Given the description of an element on the screen output the (x, y) to click on. 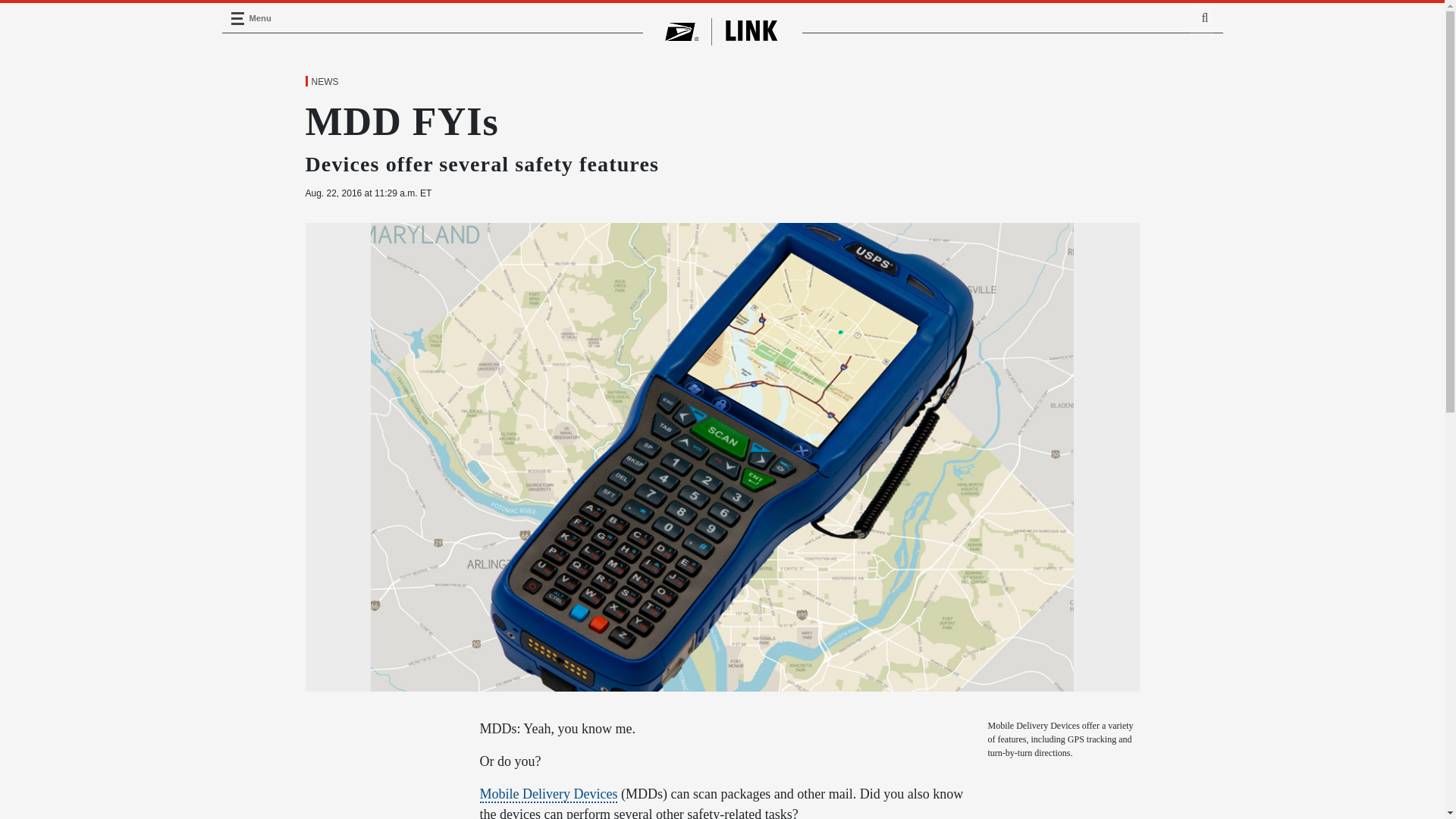
Menu (237, 18)
NEWS (323, 81)
Mobile Delivery Devices (548, 794)
